Given the description of an element on the screen output the (x, y) to click on. 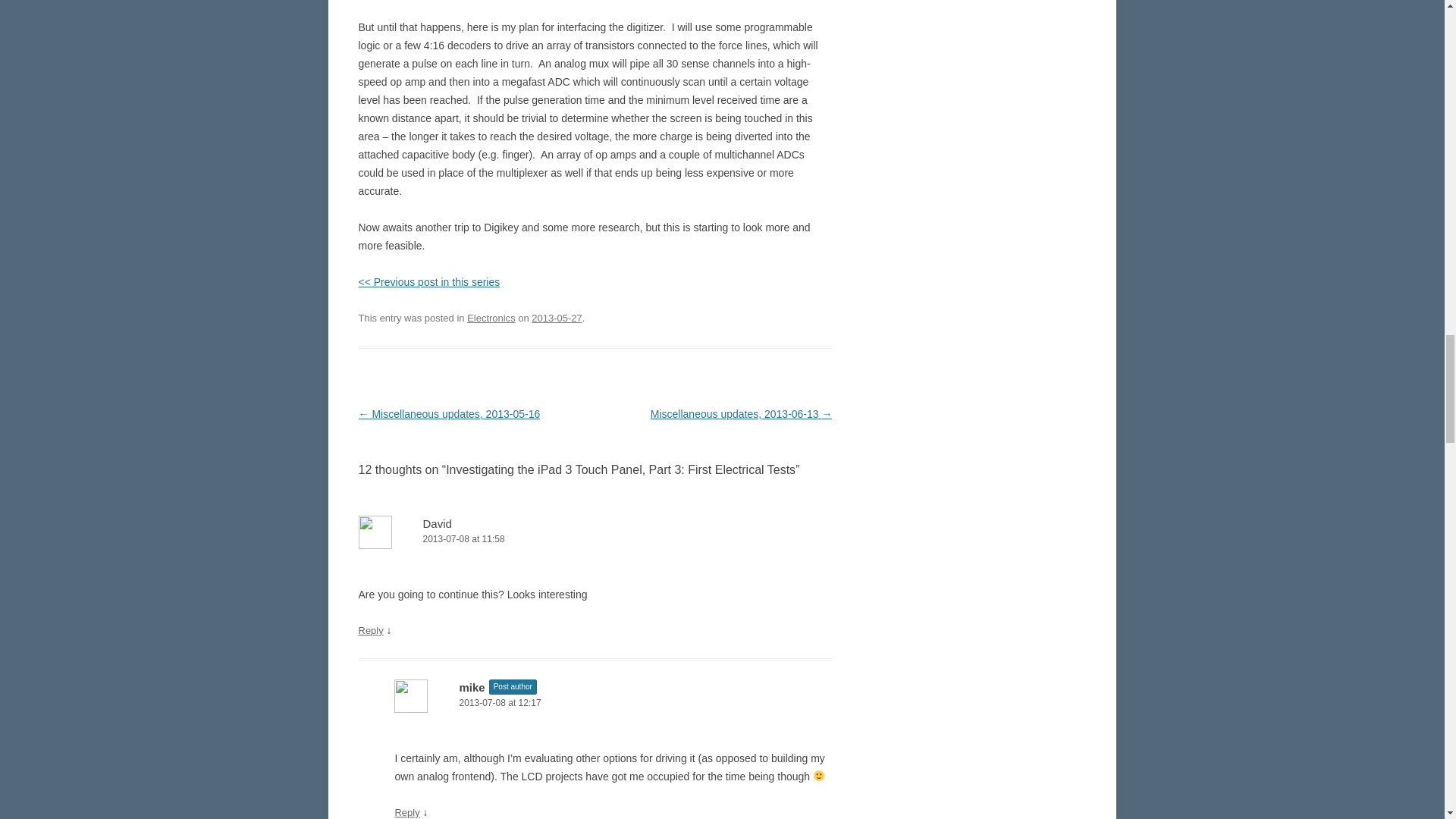
Reply (370, 630)
2013-07-08 at 11:58 (594, 539)
Reply (406, 812)
Investigating the iPad 3 Touch Panel, Part 2 (428, 282)
Electronics (491, 317)
11:32 (555, 317)
2013-05-27 (555, 317)
2013-07-08 at 12:17 (612, 703)
